Given the description of an element on the screen output the (x, y) to click on. 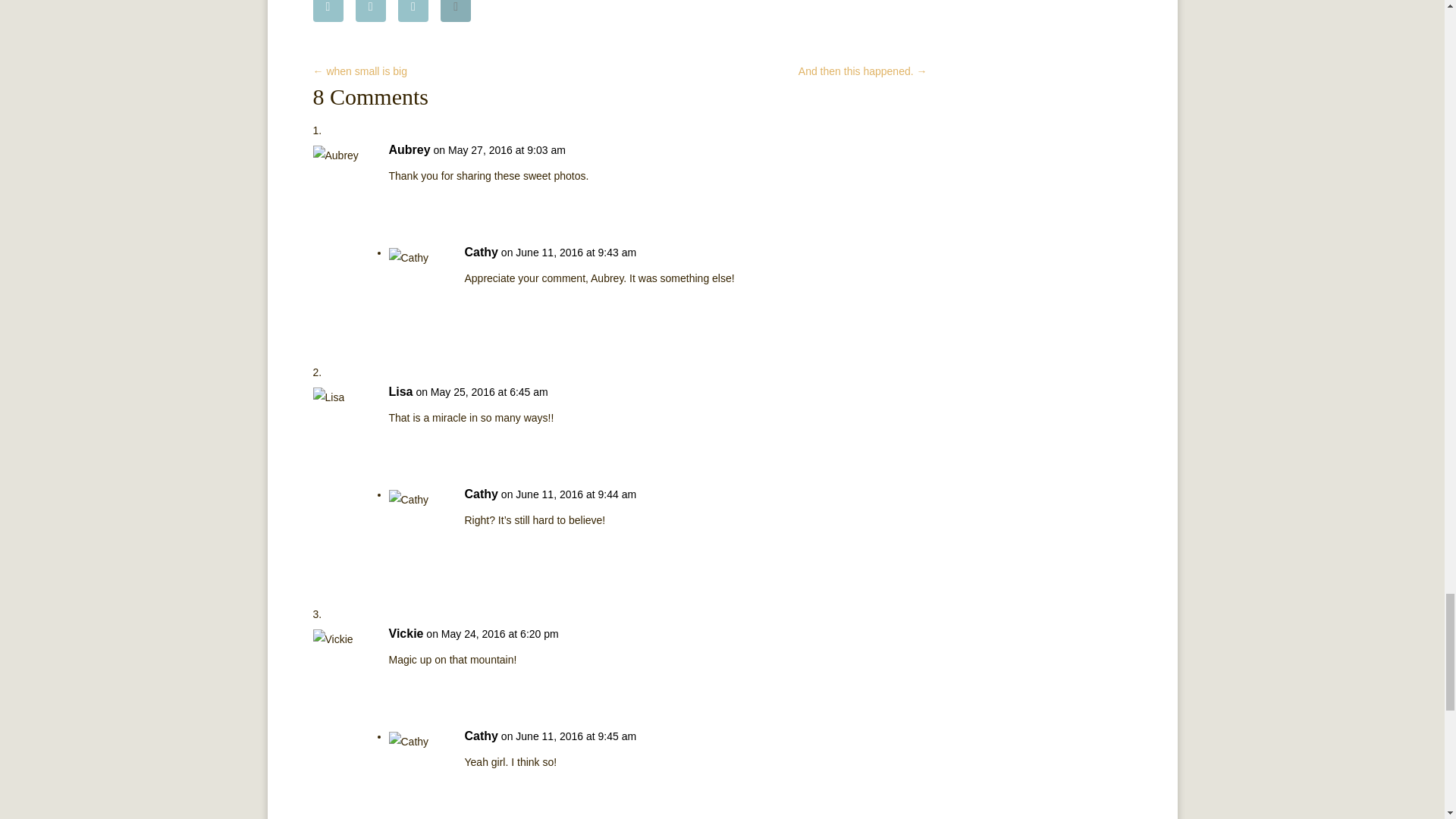
Aubrey (408, 149)
Cathy (480, 736)
Cathy (480, 252)
Cathy (480, 494)
